Given the description of an element on the screen output the (x, y) to click on. 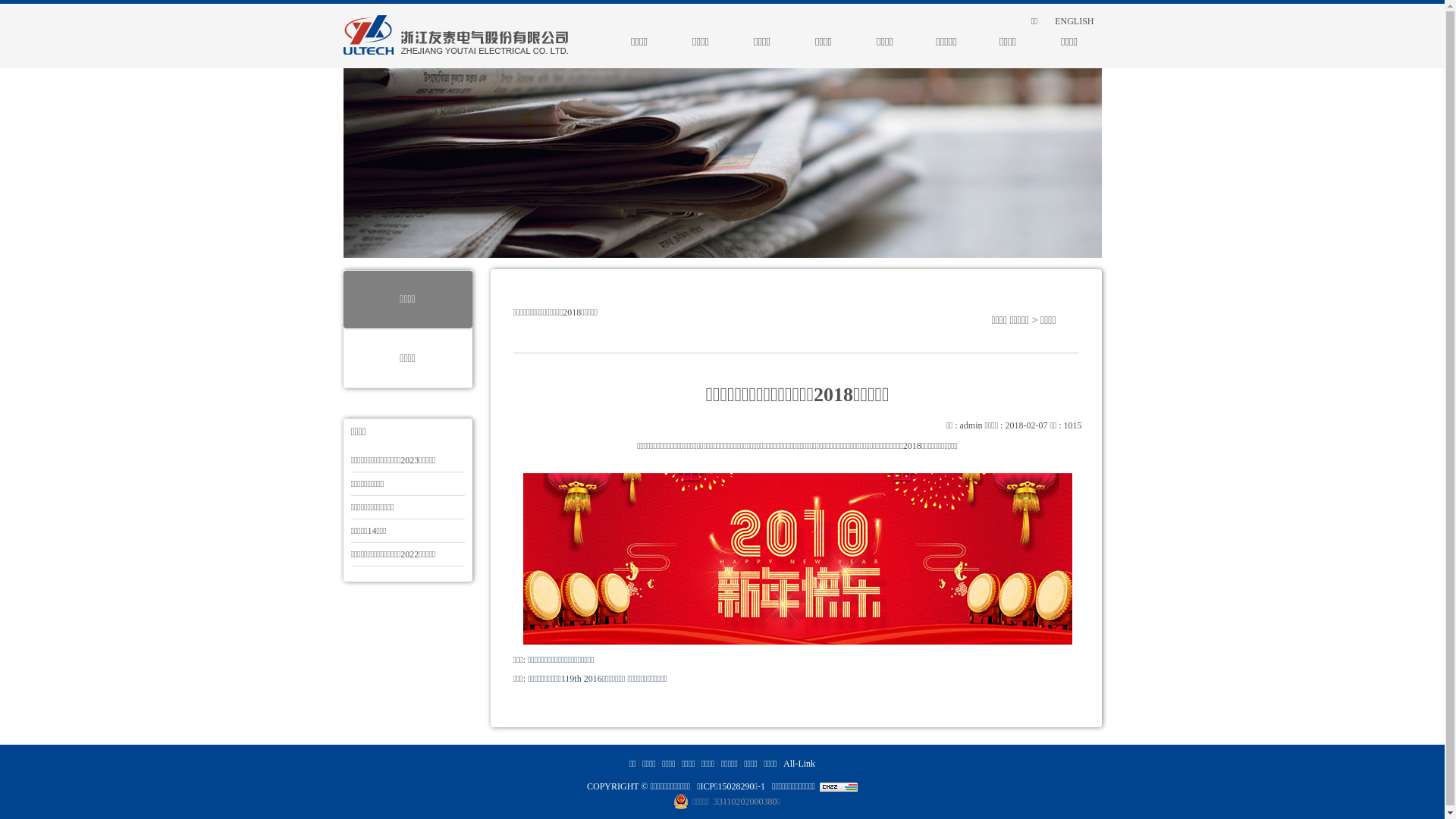
All-Link Element type: text (799, 763)
rss Element type: hover (1007, 20)
ENGLISH Element type: text (1066, 20)
